Given the description of an element on the screen output the (x, y) to click on. 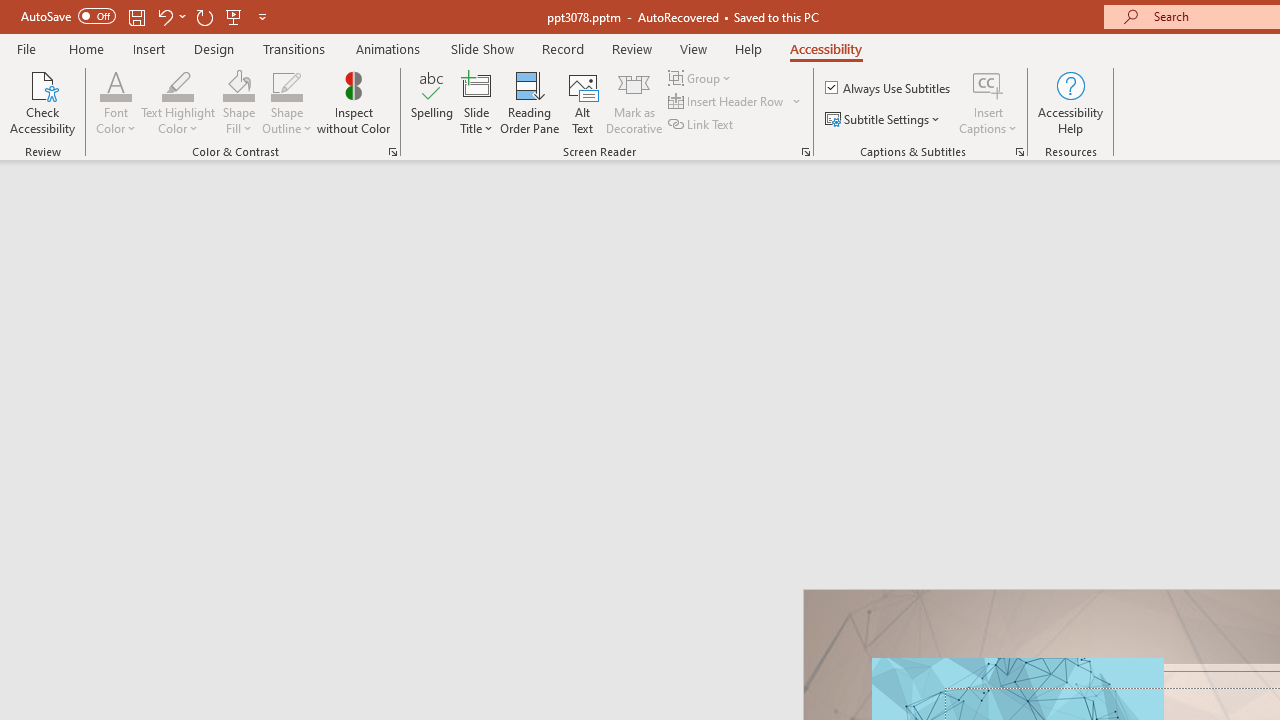
Always Use Subtitles (889, 87)
